Given the description of an element on the screen output the (x, y) to click on. 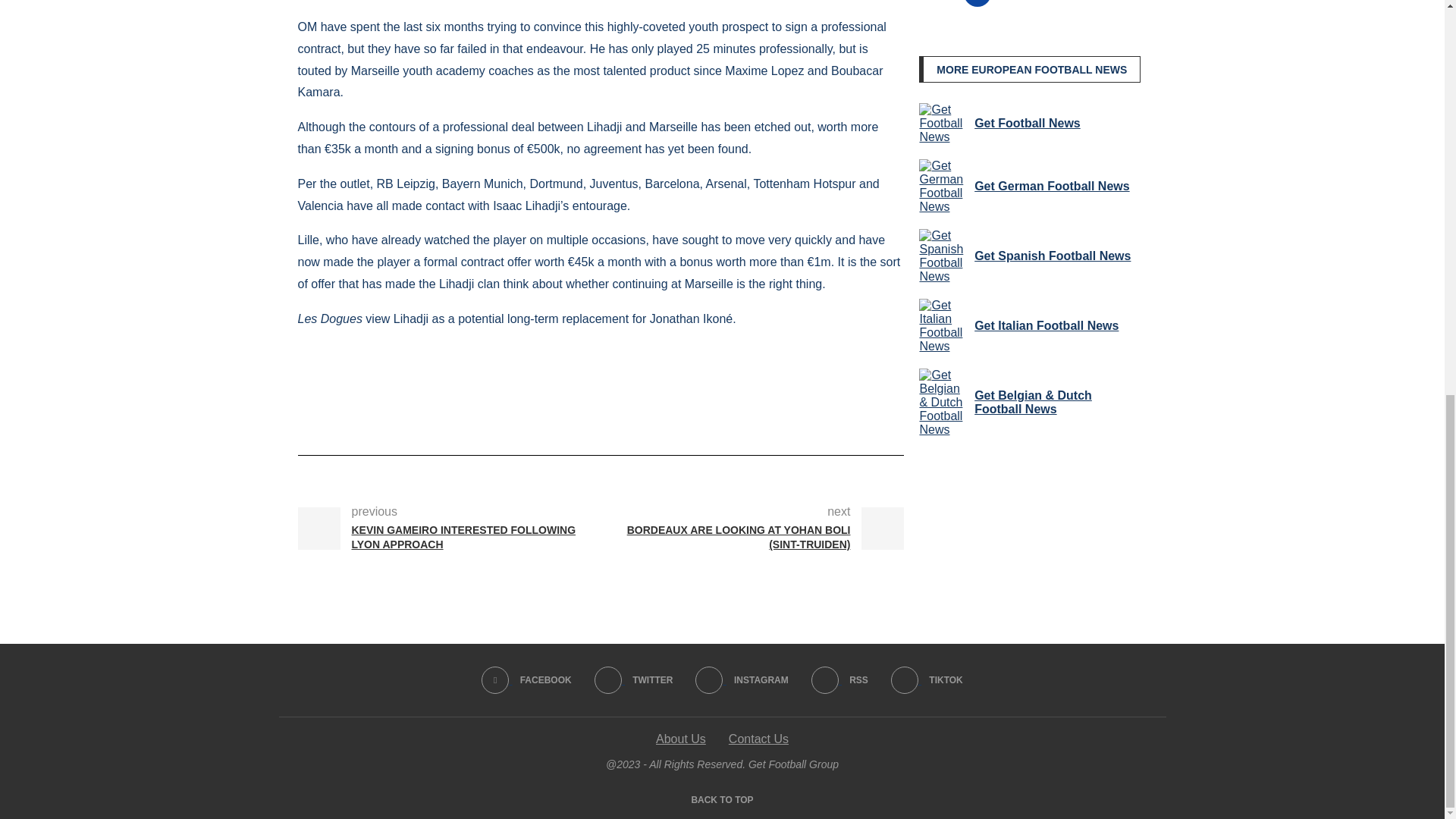
Get Football News (943, 123)
Get Spanish Football News (943, 256)
Get Italian Football News (943, 325)
Get German Football News (943, 185)
